Given the description of an element on the screen output the (x, y) to click on. 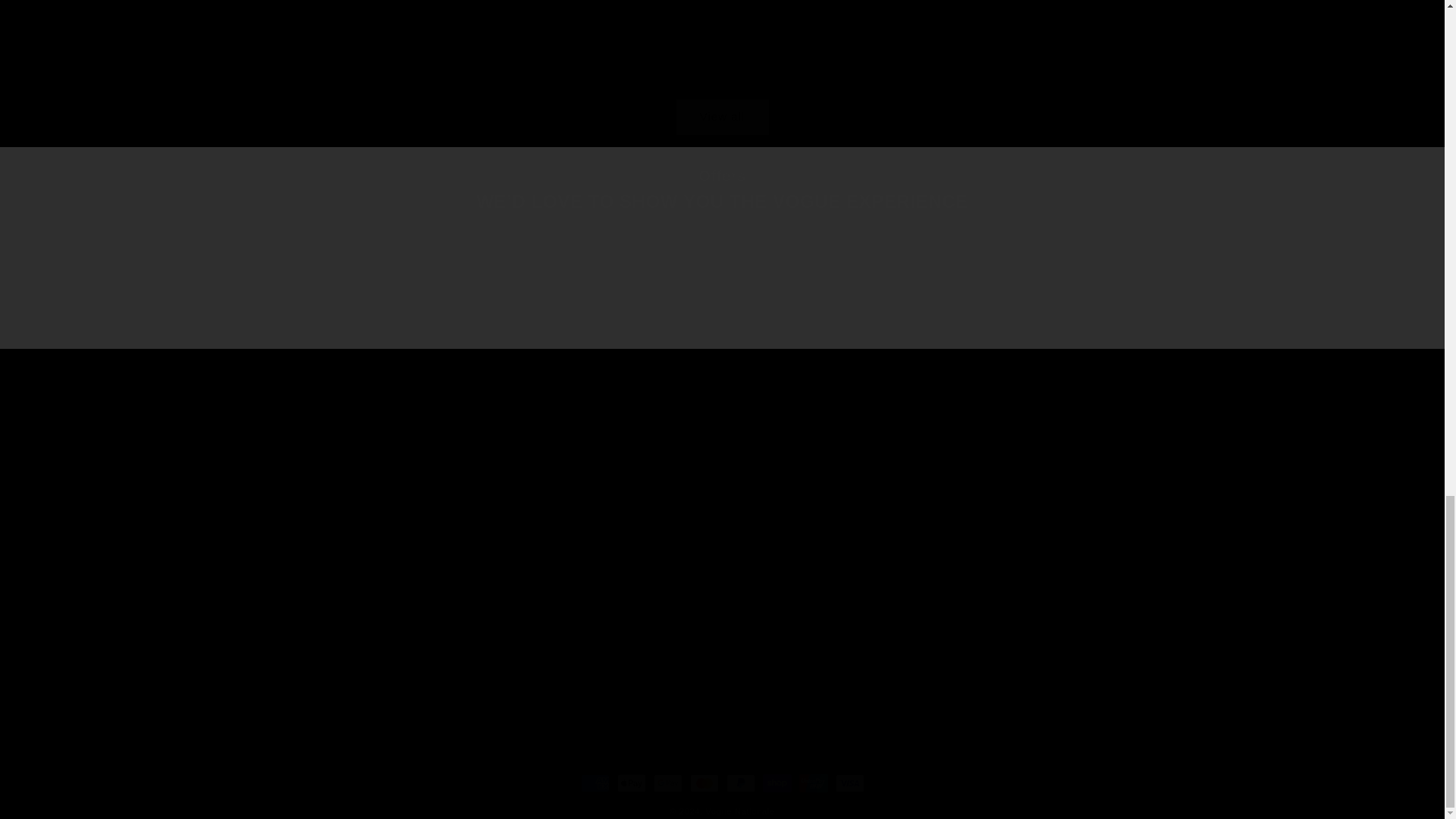
Kevin Murphy Young Again Wash 250ML (342, 597)
